Given the description of an element on the screen output the (x, y) to click on. 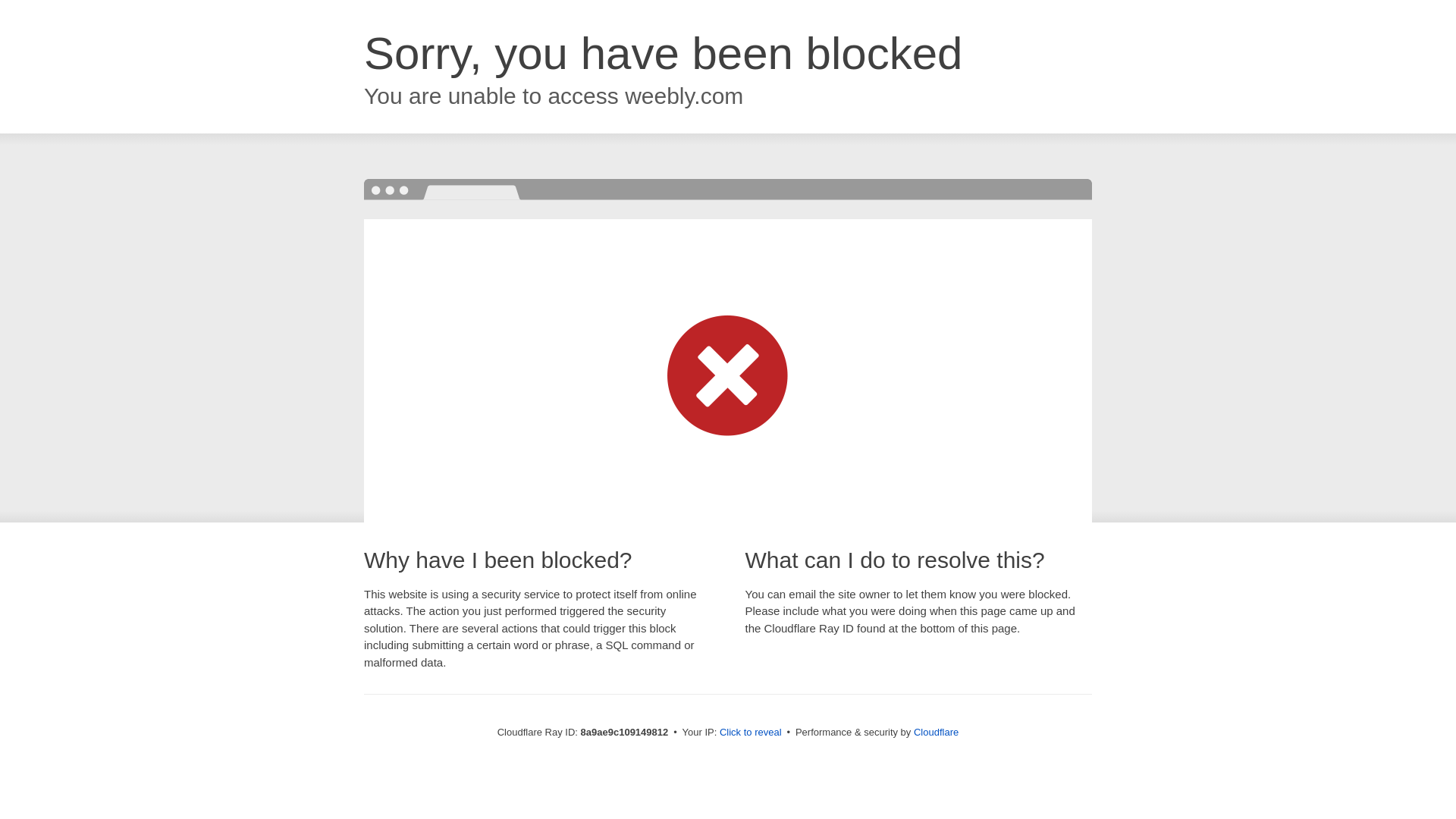
Click to reveal (750, 732)
Cloudflare (936, 731)
